Given the description of an element on the screen output the (x, y) to click on. 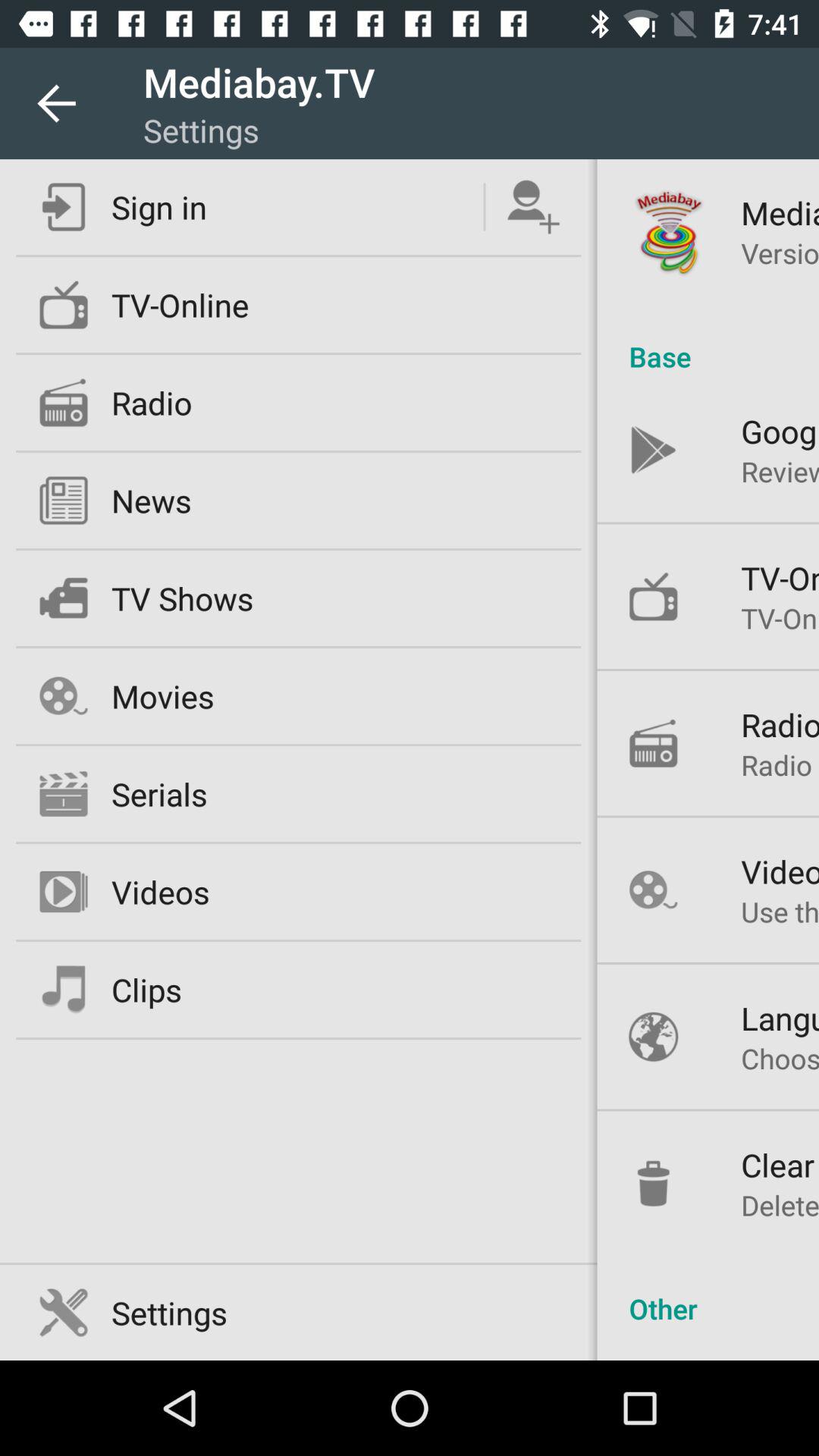
press the google play icon (780, 430)
